Given the description of an element on the screen output the (x, y) to click on. 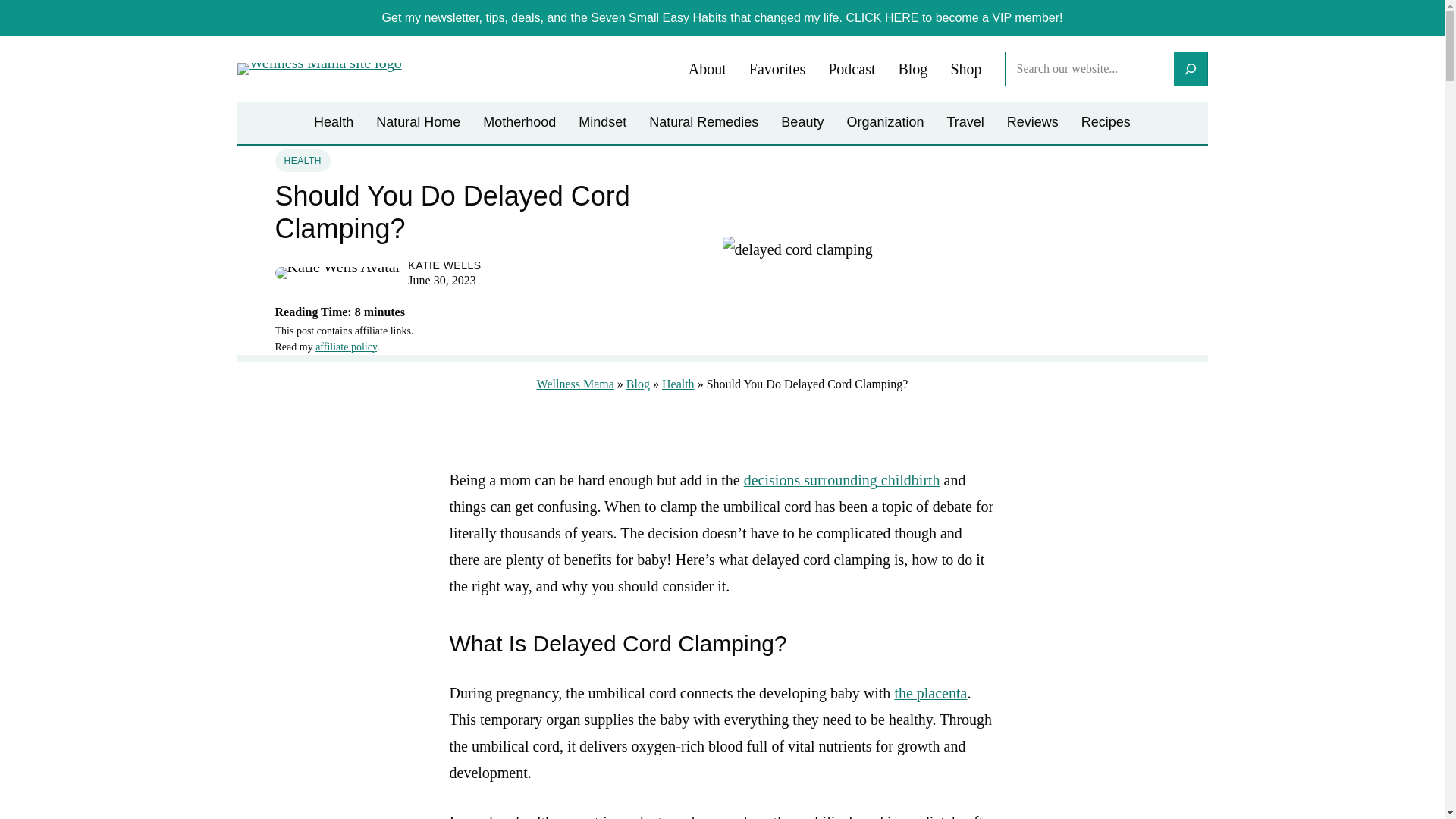
Health (333, 122)
Natural Home (417, 122)
decisions surrounding childbirth (842, 479)
Wellness Mama (575, 383)
Shop (965, 69)
Beauty (802, 122)
Health (678, 383)
the placenta (929, 692)
About (707, 69)
HEALTH (302, 159)
